Given the description of an element on the screen output the (x, y) to click on. 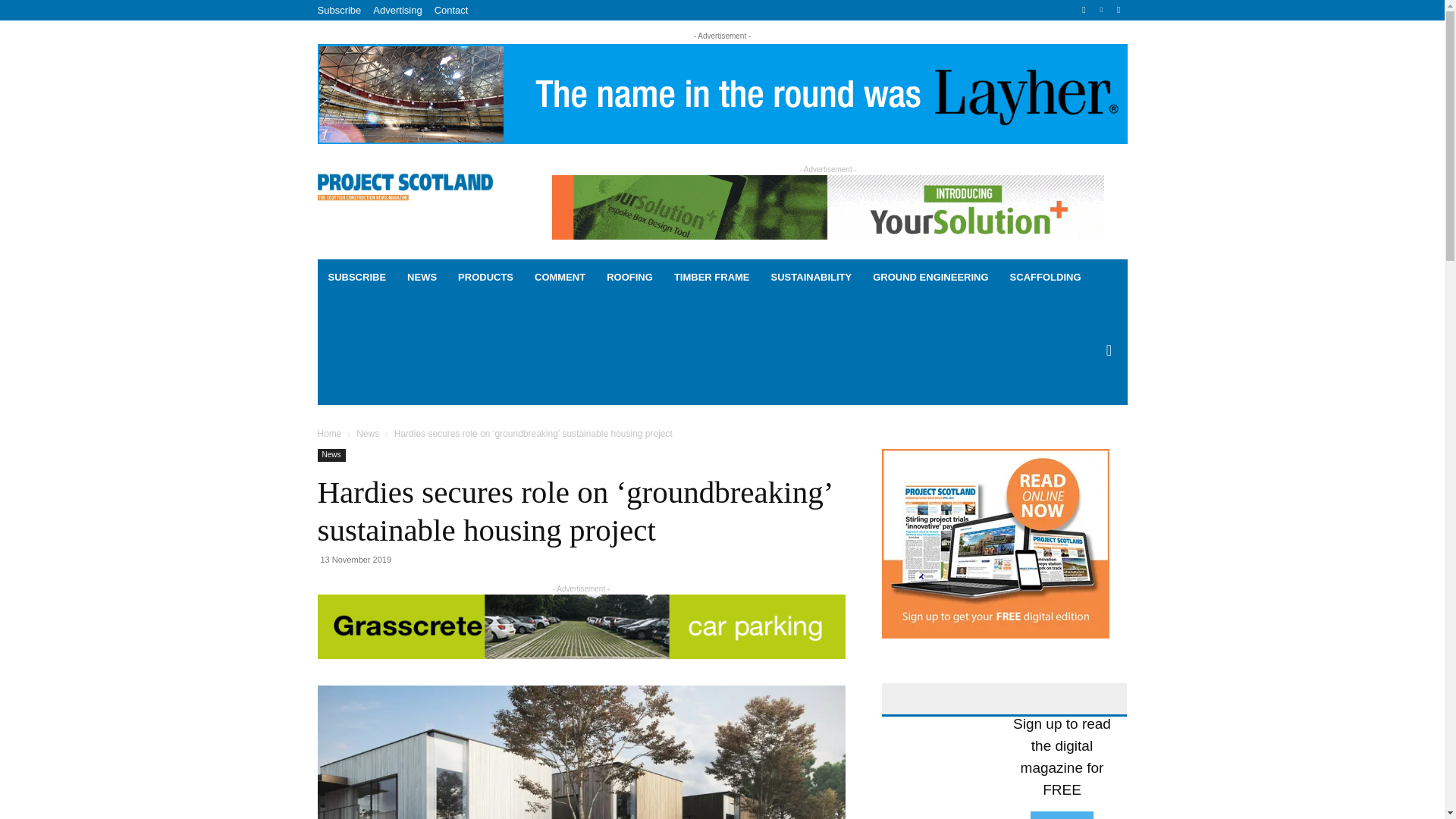
SUBSCRIBE (356, 277)
GROUND ENGINEERING (929, 277)
Project Scotland (404, 185)
View all posts in News (367, 433)
Linkedin (1101, 9)
NEWS (421, 277)
Advertising (397, 9)
Home (328, 433)
Contact (450, 9)
Subscribe (339, 9)
Facebook (1084, 9)
ROOFING (629, 277)
TIMBER FRAME (711, 277)
SUSTAINABILITY (811, 277)
